Given the description of an element on the screen output the (x, y) to click on. 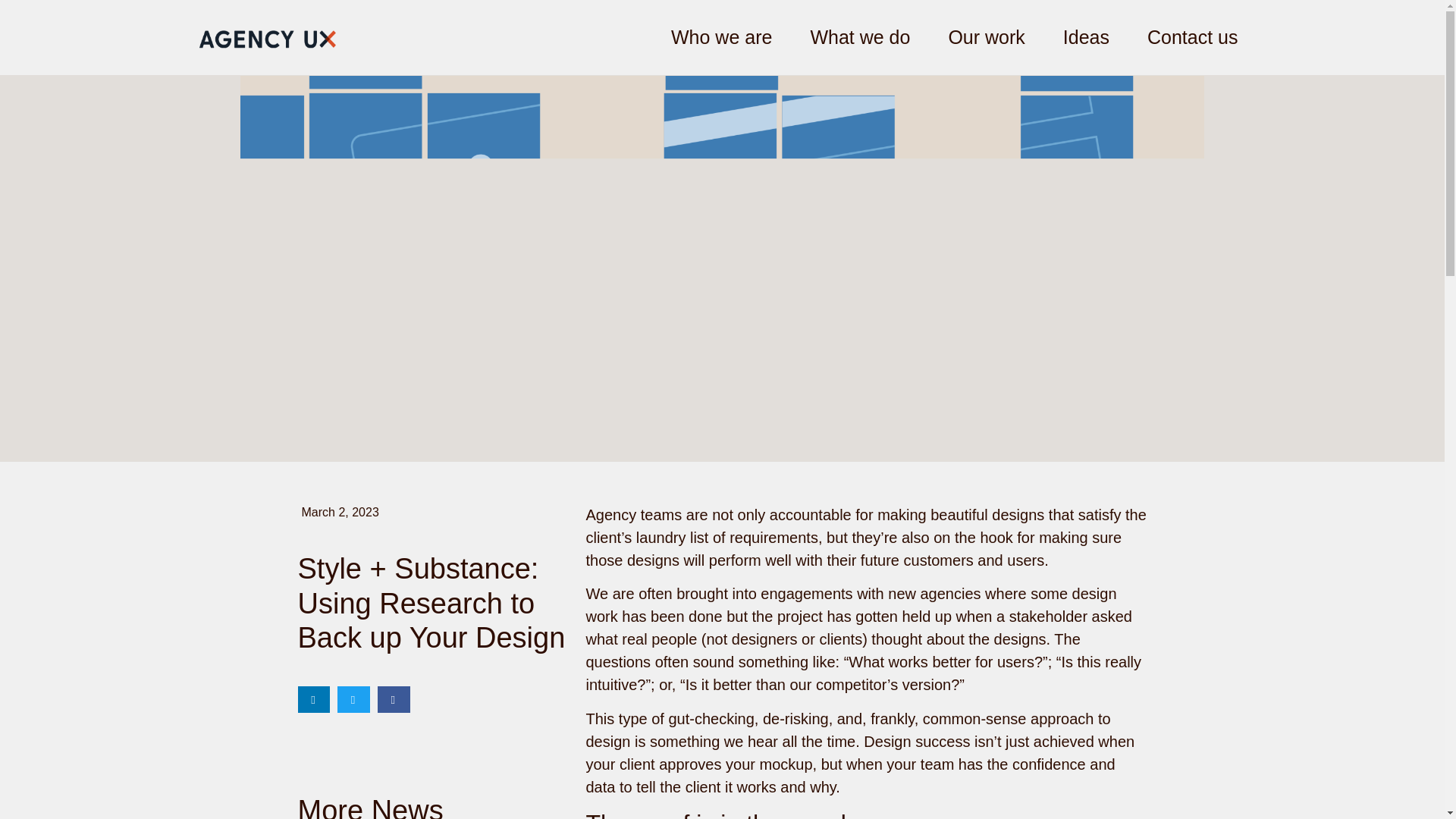
Our work (986, 37)
Ideas (1085, 37)
Who we are (721, 37)
What we do (859, 37)
Contact us (1193, 37)
